Given the description of an element on the screen output the (x, y) to click on. 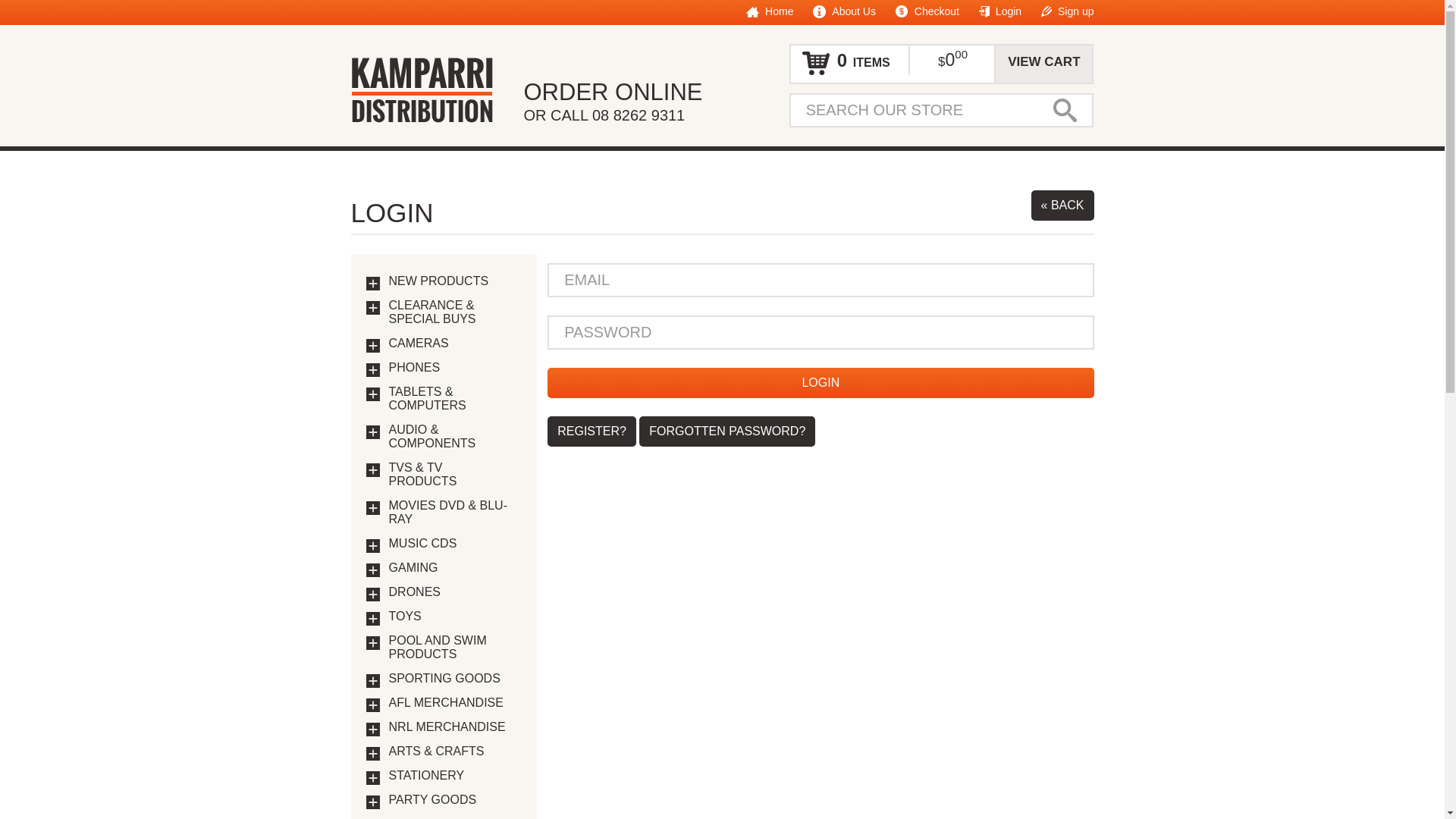
Open/close Element type: text (372, 345)
GAMING Element type: text (455, 567)
PARTY GOODS Element type: text (455, 799)
Open/close Element type: text (372, 283)
SPORTING GOODS Element type: text (455, 678)
STATIONERY Element type: text (455, 775)
NEW PRODUCTS Element type: text (455, 281)
Search Element type: text (1064, 109)
Open/close Element type: text (372, 705)
TVS & TV PRODUCTS Element type: text (455, 474)
Open/close Element type: text (372, 729)
Checkout Element type: text (927, 11)
Login Element type: text (1000, 11)
FORGOTTEN PASSWORD? Element type: text (727, 431)
CLEARANCE & SPECIAL BUYS Element type: text (455, 312)
VIEW CART Element type: text (1043, 61)
Sign up Element type: text (1067, 11)
TABLETS & COMPUTERS Element type: text (455, 398)
Open/close Element type: text (372, 570)
Open/close Element type: text (372, 369)
About Us Element type: text (843, 11)
ARTS & CRAFTS Element type: text (455, 751)
TOYS Element type: text (455, 616)
REGISTER? Element type: text (591, 431)
PHONES Element type: text (455, 367)
Open/close Element type: text (372, 753)
NRL MERCHANDISE Element type: text (455, 727)
POOL AND SWIM PRODUCTS Element type: text (455, 647)
AUDIO & COMPONENTS Element type: text (455, 436)
Open/close Element type: text (372, 307)
Open/close Element type: text (372, 594)
Open/close Element type: text (372, 680)
Home Element type: text (769, 11)
Open/close Element type: text (372, 618)
Open/close Element type: text (372, 507)
MUSIC CDS Element type: text (455, 543)
Open/close Element type: text (372, 469)
Open/close Element type: text (372, 432)
Login Element type: text (820, 382)
Open/close Element type: text (372, 802)
CAMERAS Element type: text (455, 343)
MOVIES DVD & BLU-RAY Element type: text (455, 512)
Open/close Element type: text (372, 642)
Open/close Element type: text (372, 545)
Open/close Element type: text (372, 394)
AFL MERCHANDISE Element type: text (455, 702)
DRONES Element type: text (455, 592)
Open/close Element type: text (372, 777)
